Given the description of an element on the screen output the (x, y) to click on. 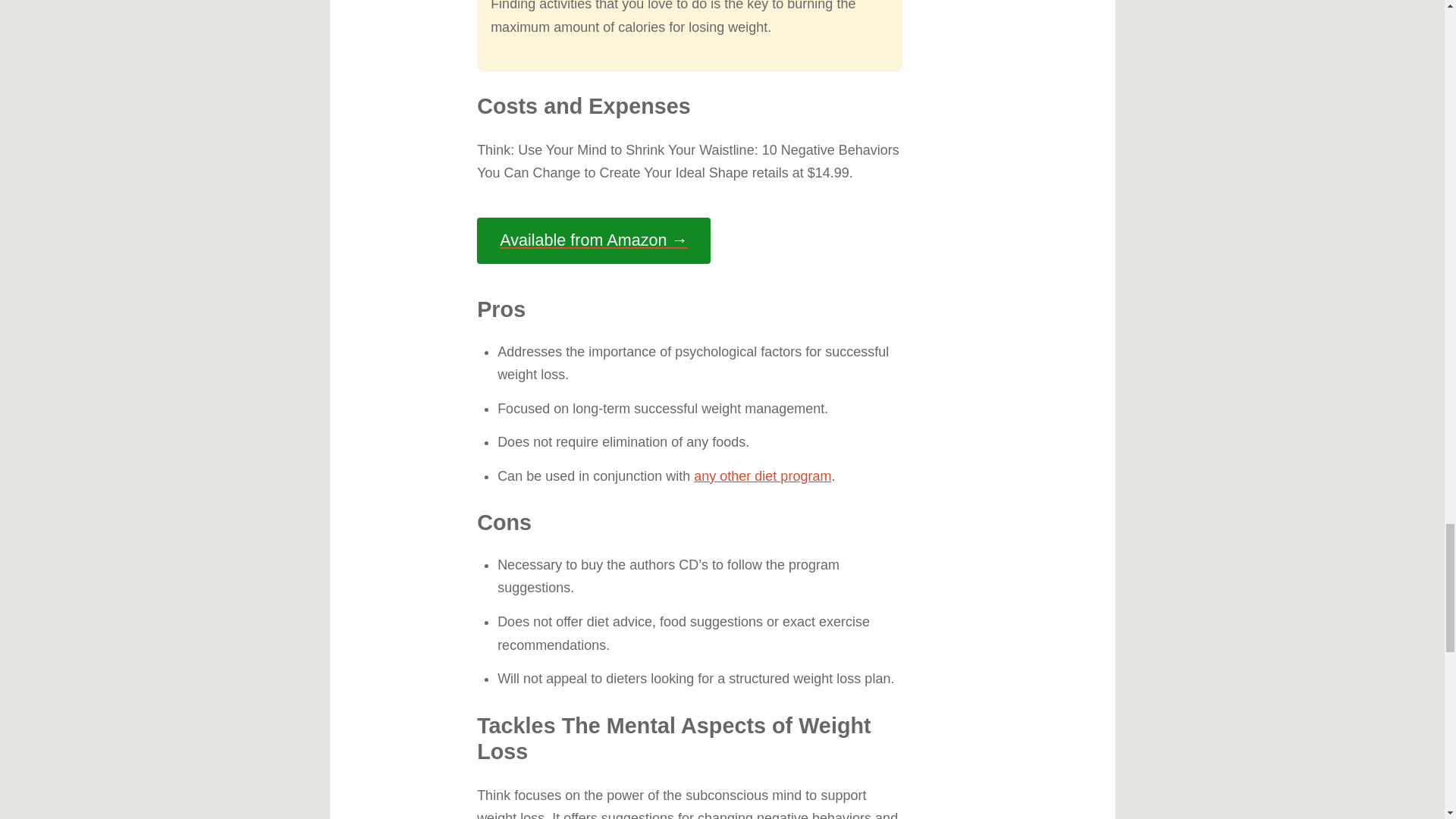
any other diet program (762, 476)
